Given the description of an element on the screen output the (x, y) to click on. 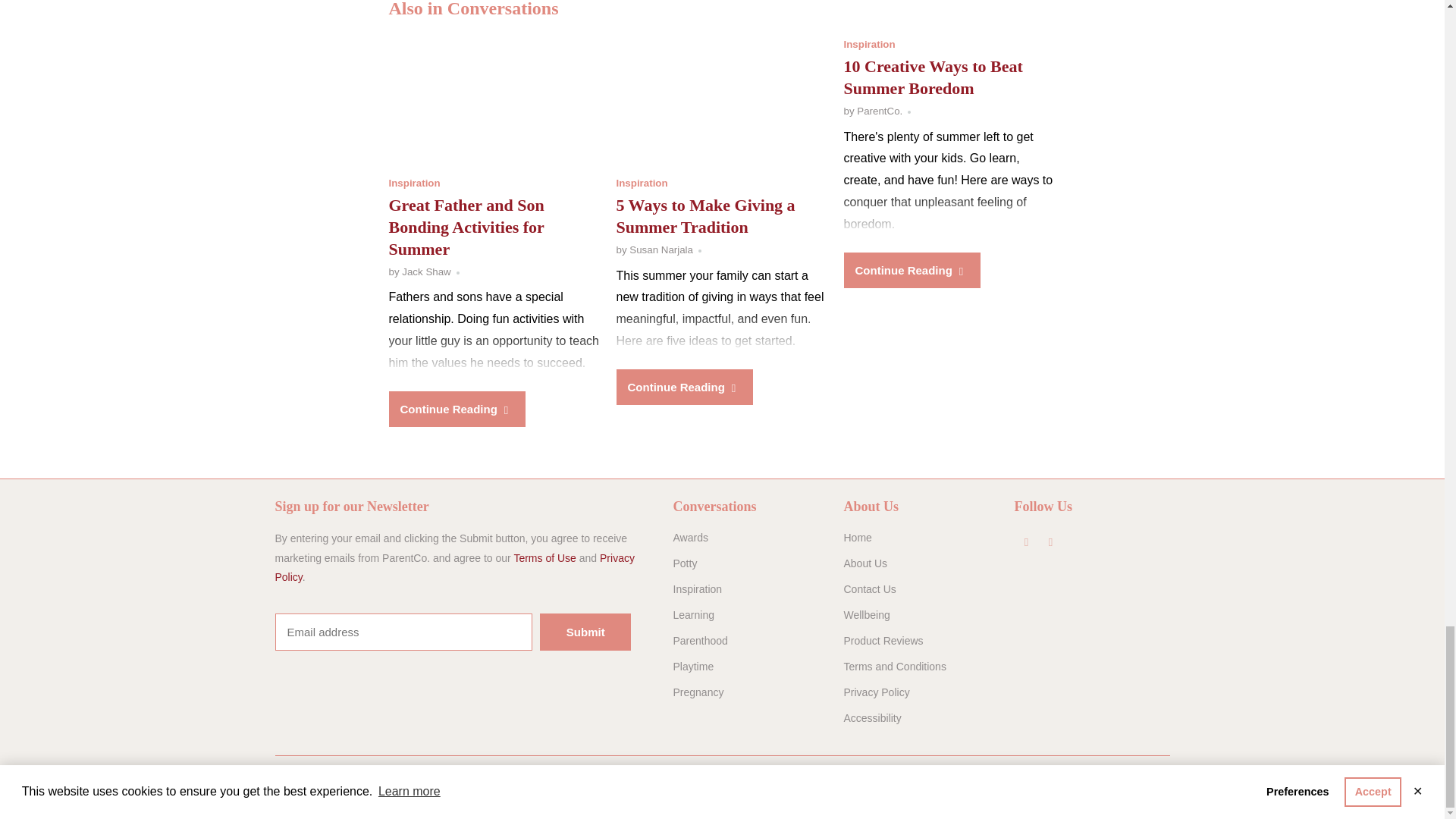
5 Ways to Make Giving a Summer Tradition (721, 102)
Conversations tagged Inspiration (869, 43)
Conversations tagged Inspiration (640, 183)
5 Ways to Make Giving a Summer Tradition (704, 215)
Great Father and Son Bonding Activities for Summer (493, 102)
Conversations tagged Inspiration (413, 183)
Submit (585, 631)
Great Father and Son Bonding Activities for Summer (465, 226)
10 Creative Ways to Beat Summer Boredom (932, 76)
